Given the description of an element on the screen output the (x, y) to click on. 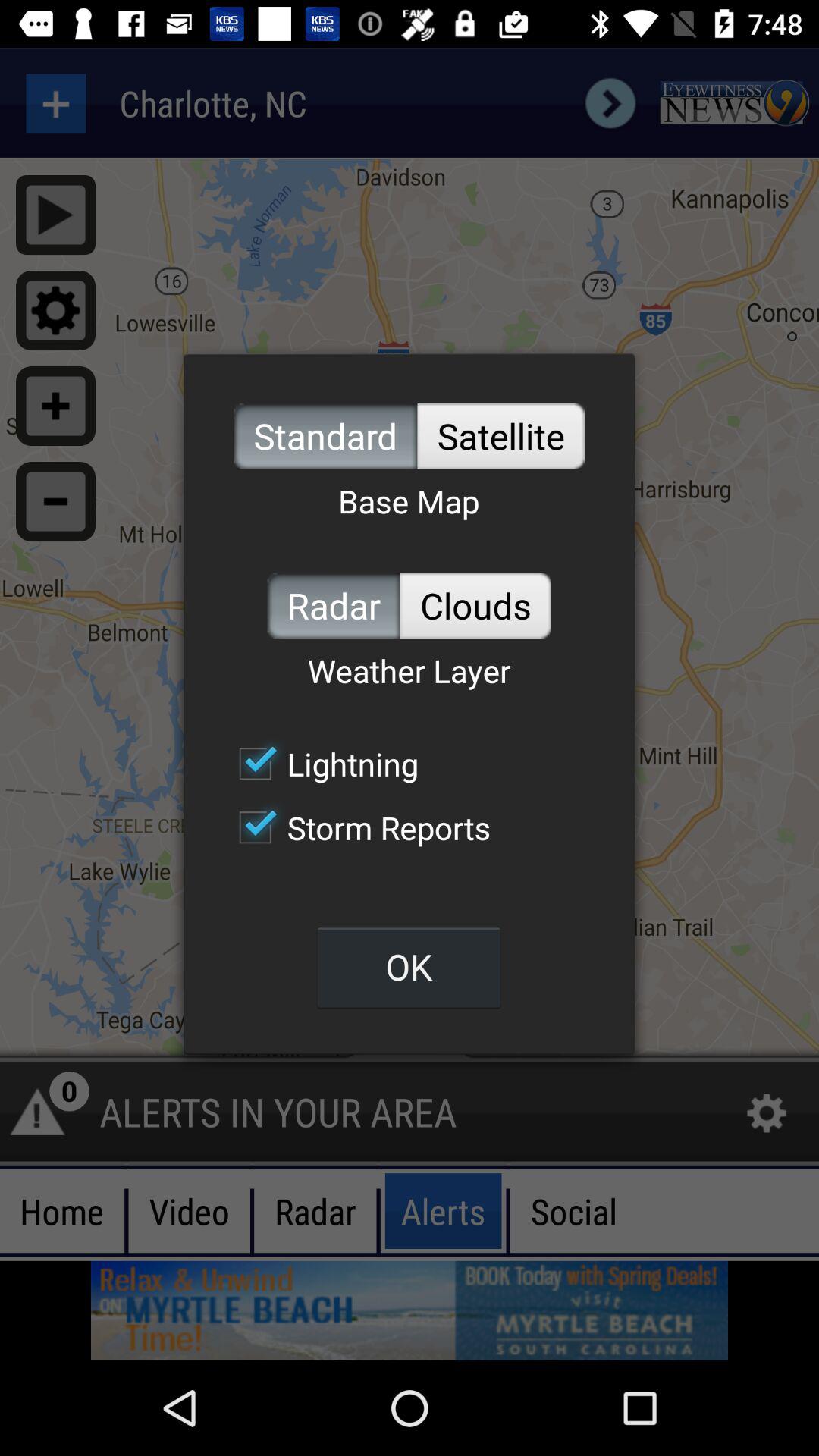
jump to the satellite icon (500, 436)
